Given the description of an element on the screen output the (x, y) to click on. 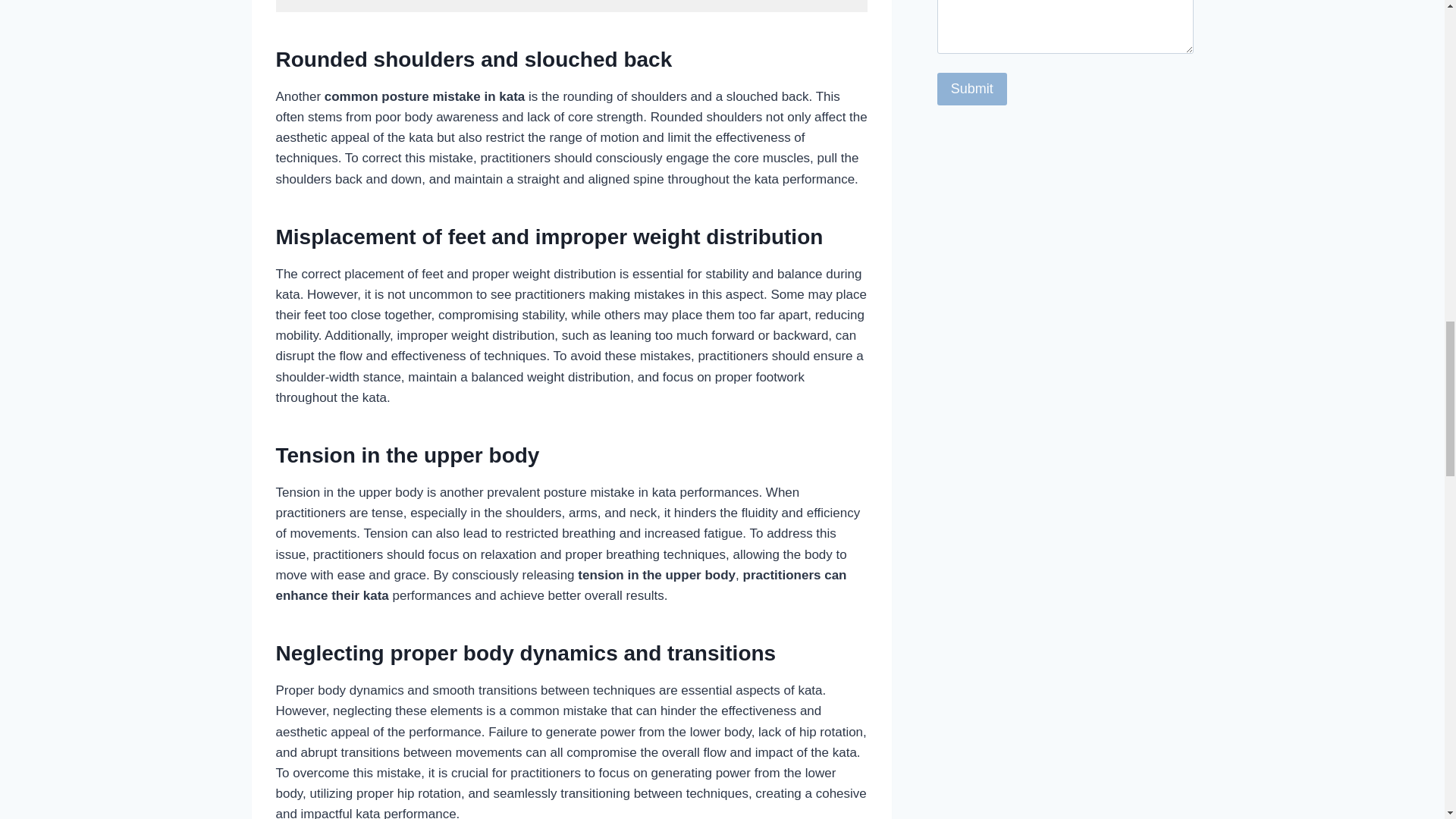
Submit (972, 88)
